Given the description of an element on the screen output the (x, y) to click on. 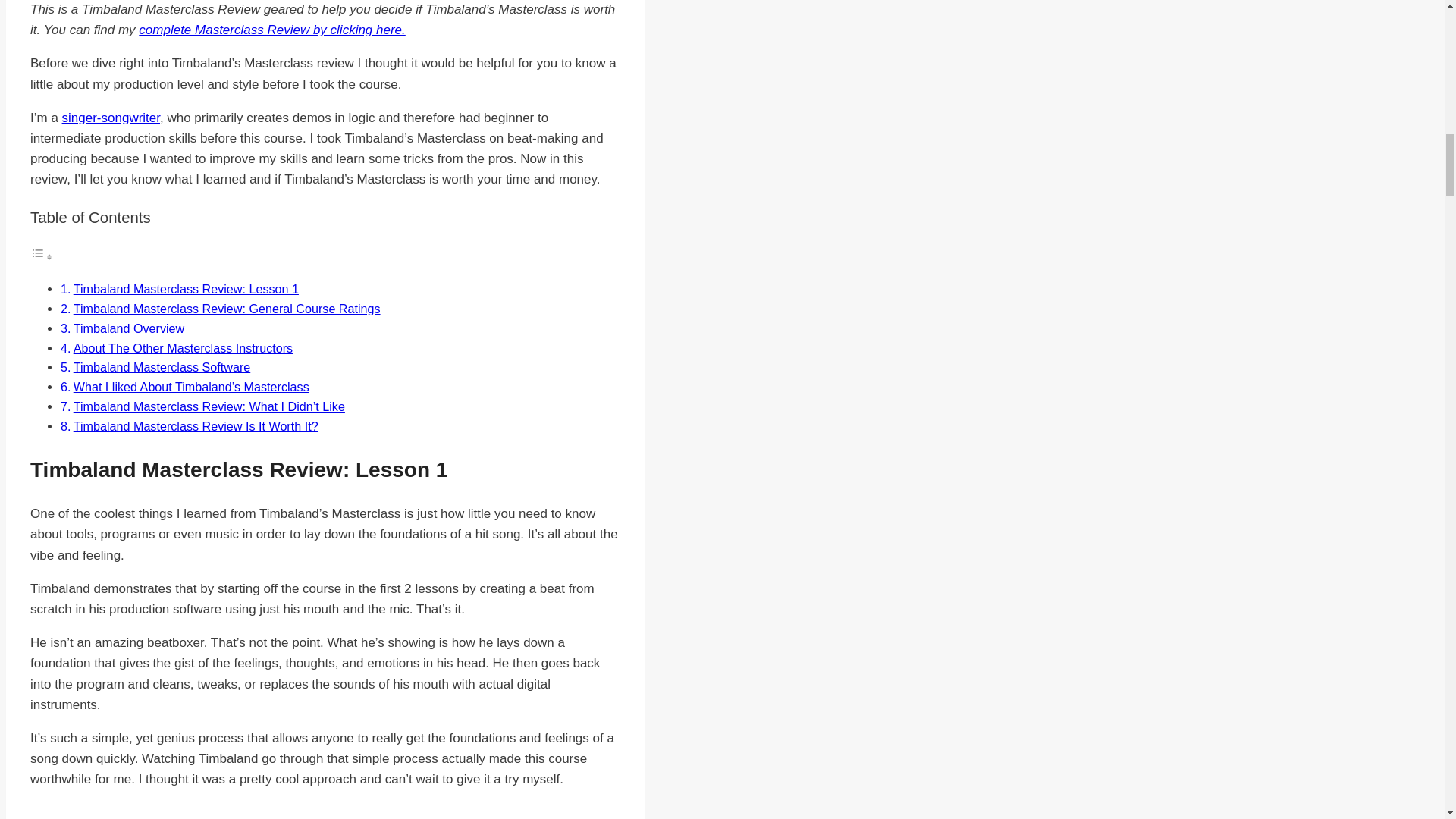
About The Other Masterclass Instructors (183, 347)
Timbaland Masterclass Software (162, 366)
Timbaland Masterclass Review: Lesson 1 (186, 288)
About The Other Masterclass Instructors (183, 347)
Timbaland Masterclass Review: General Course Ratings (227, 308)
Timbaland Masterclass Review: Lesson 1 (186, 288)
Timbaland Masterclass Review: General Course Ratings (227, 308)
Timbaland Masterclass Review Is It Worth It? (196, 426)
Timbaland Masterclass Review Is It Worth It? (196, 426)
Timbaland Overview (129, 327)
Timbaland Masterclass Software (162, 366)
singer-songwriter (111, 117)
complete Masterclass Review by clicking here. (271, 29)
Timbaland Overview (129, 327)
